Given the description of an element on the screen output the (x, y) to click on. 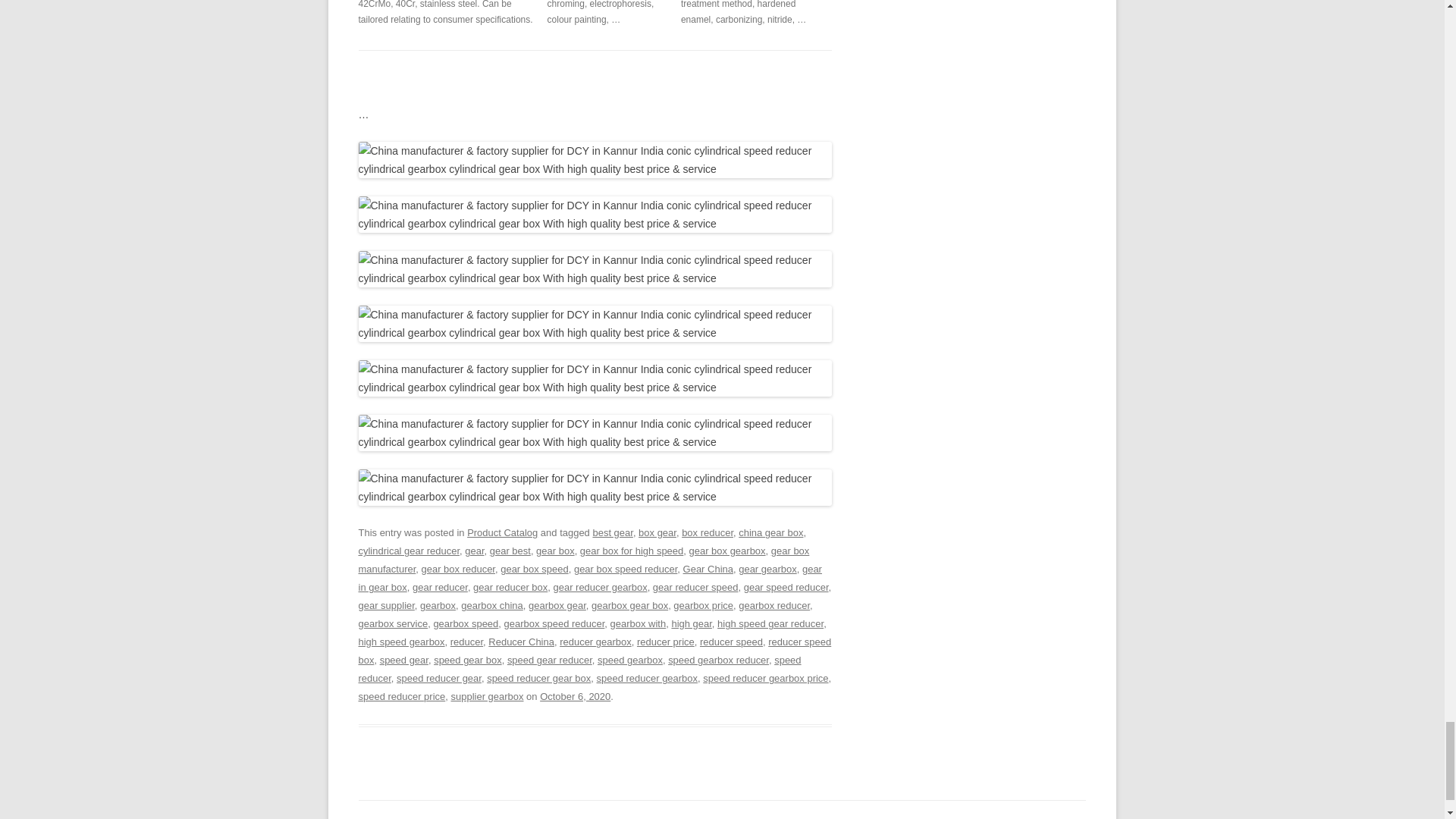
2:40 am (575, 696)
